Given the description of an element on the screen output the (x, y) to click on. 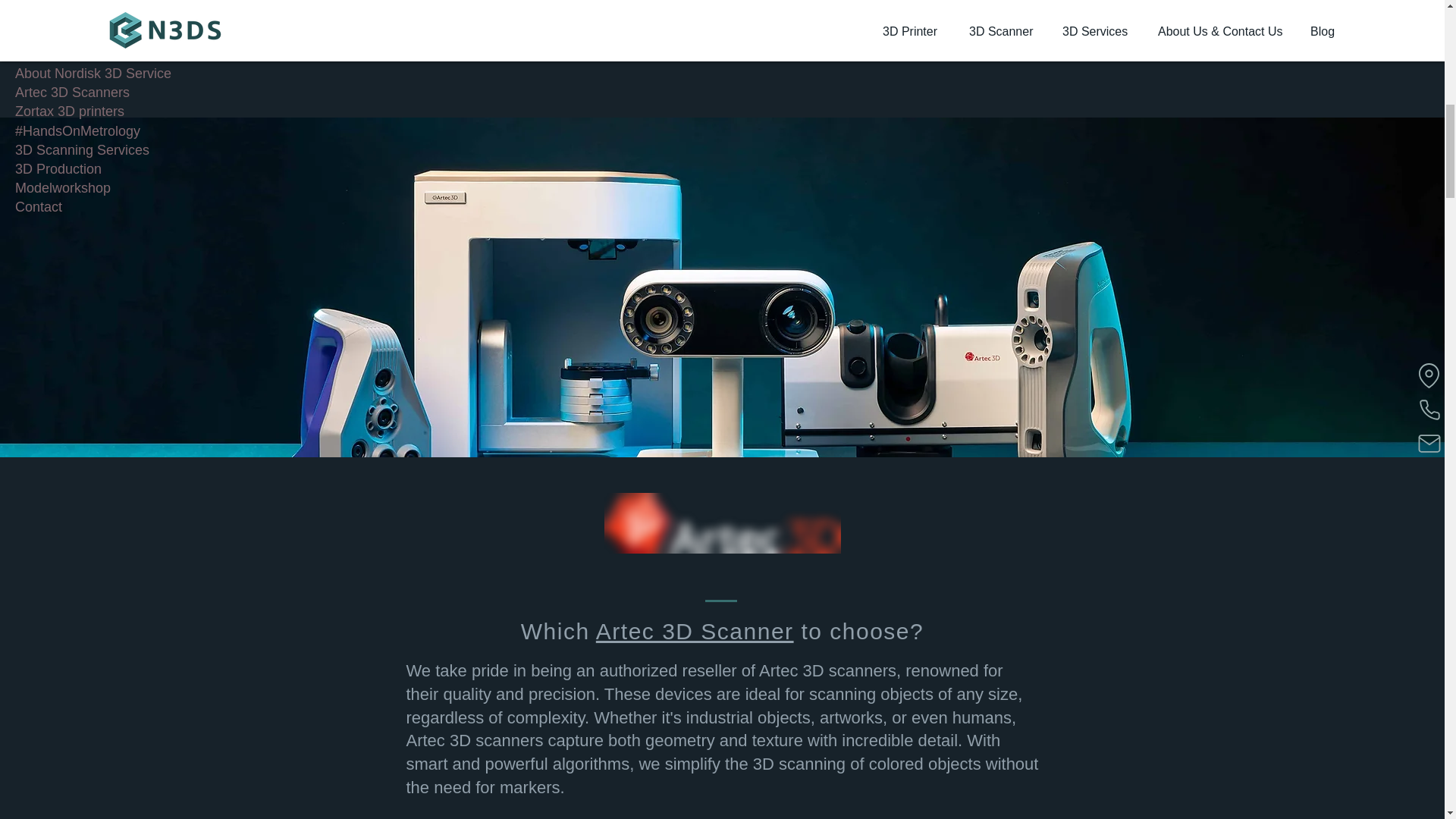
Artec 3D Scanner (694, 631)
